Given the description of an element on the screen output the (x, y) to click on. 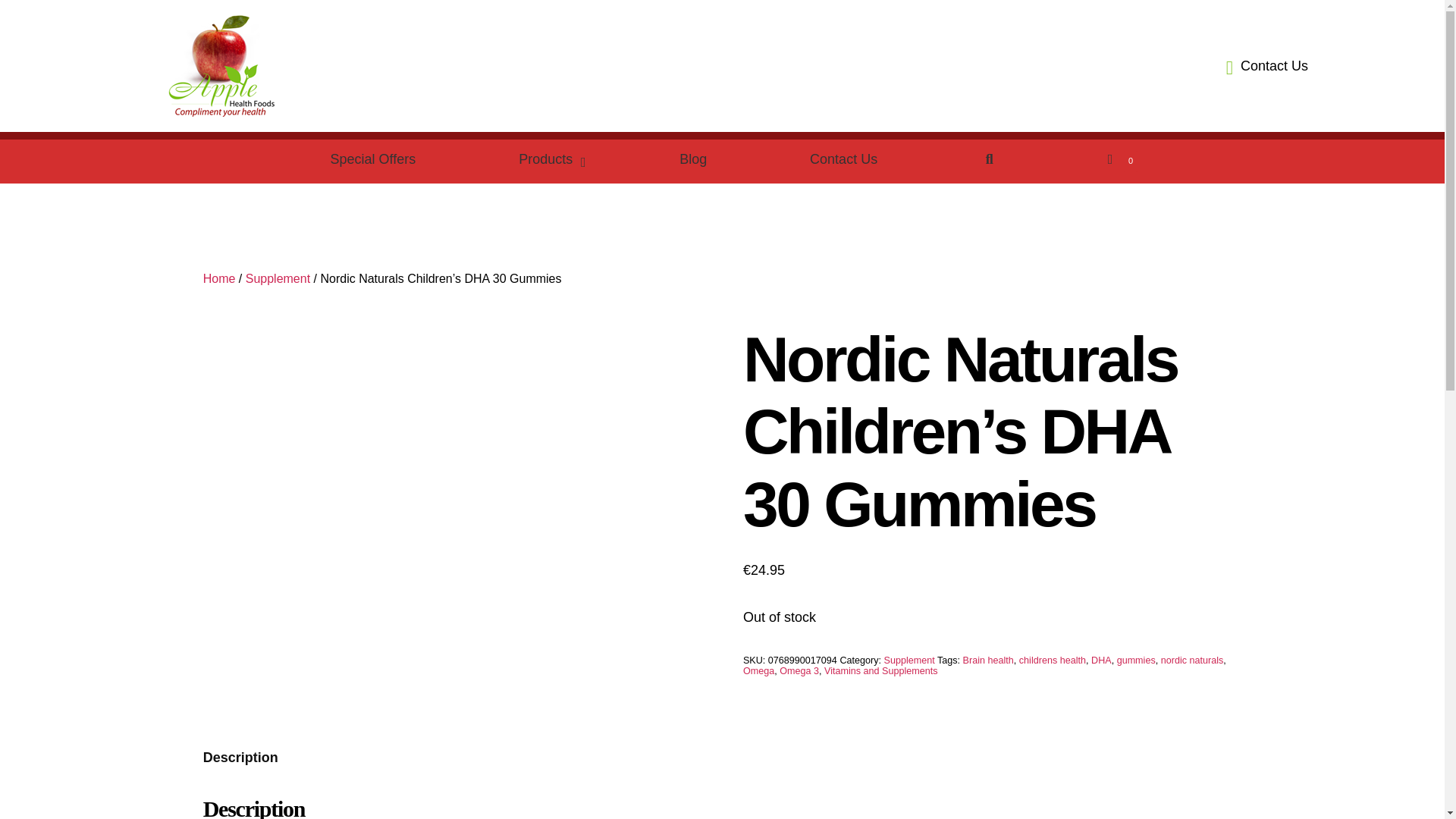
Special Offers (373, 159)
Products (734, 161)
Contact Us (547, 159)
